Given the description of an element on the screen output the (x, y) to click on. 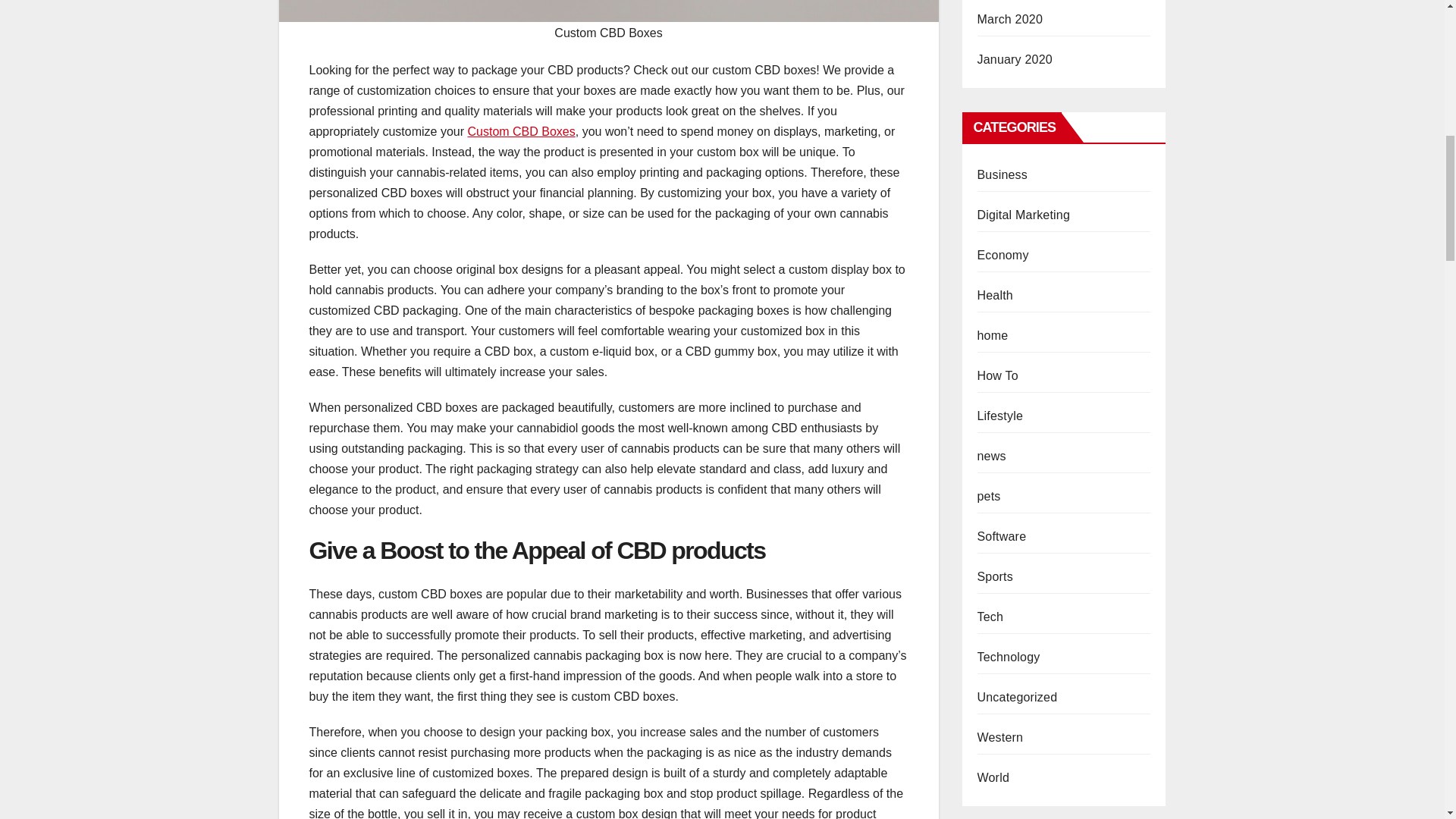
Custom CBD Boxes (521, 131)
